Given the description of an element on the screen output the (x, y) to click on. 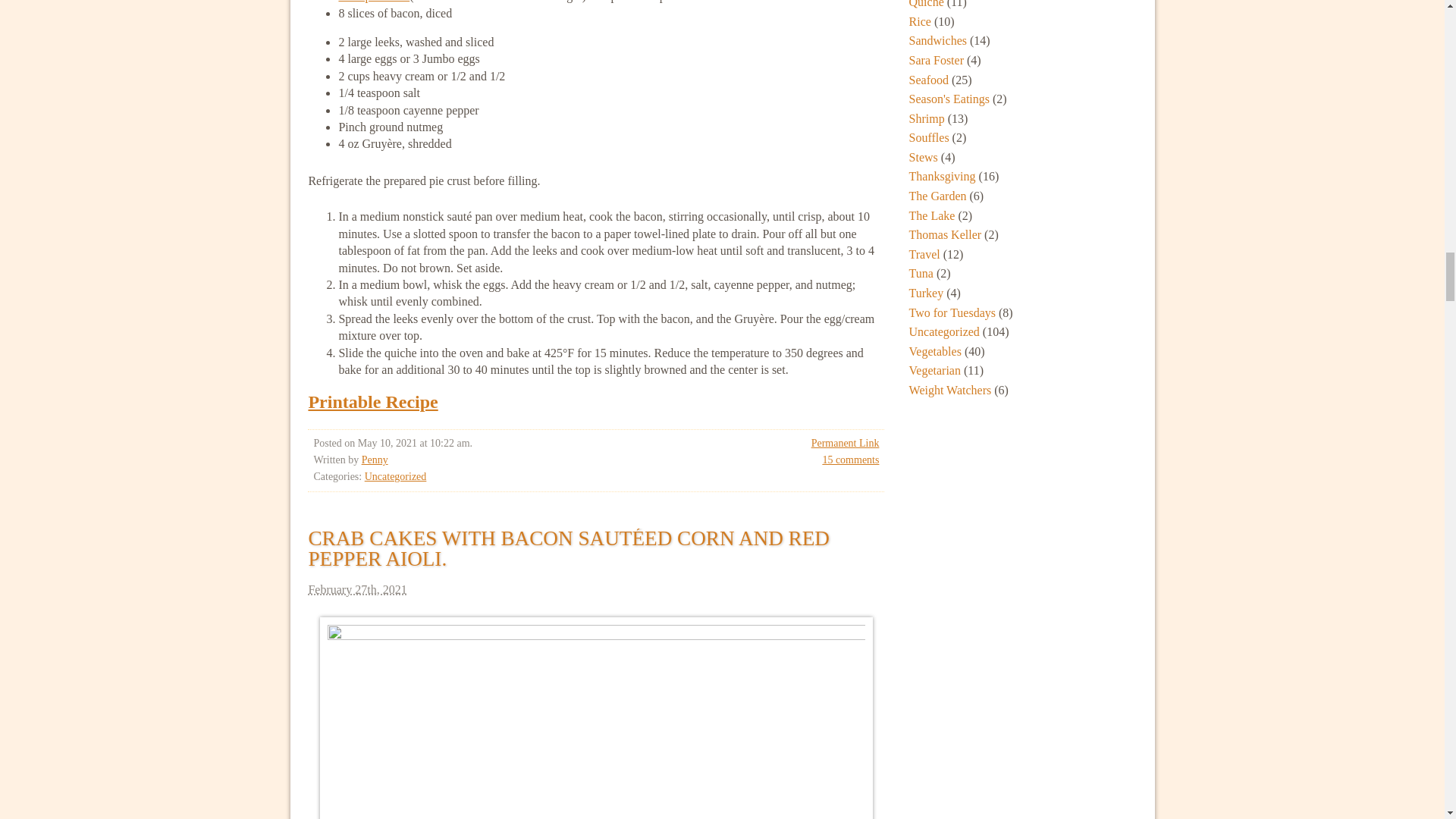
15 comments (850, 460)
Printable Recipe (372, 401)
Permanent Link (844, 442)
2021-02-27T14:38:18-05:00 (595, 589)
Uncategorized (395, 476)
Penny (374, 460)
